Given the description of an element on the screen output the (x, y) to click on. 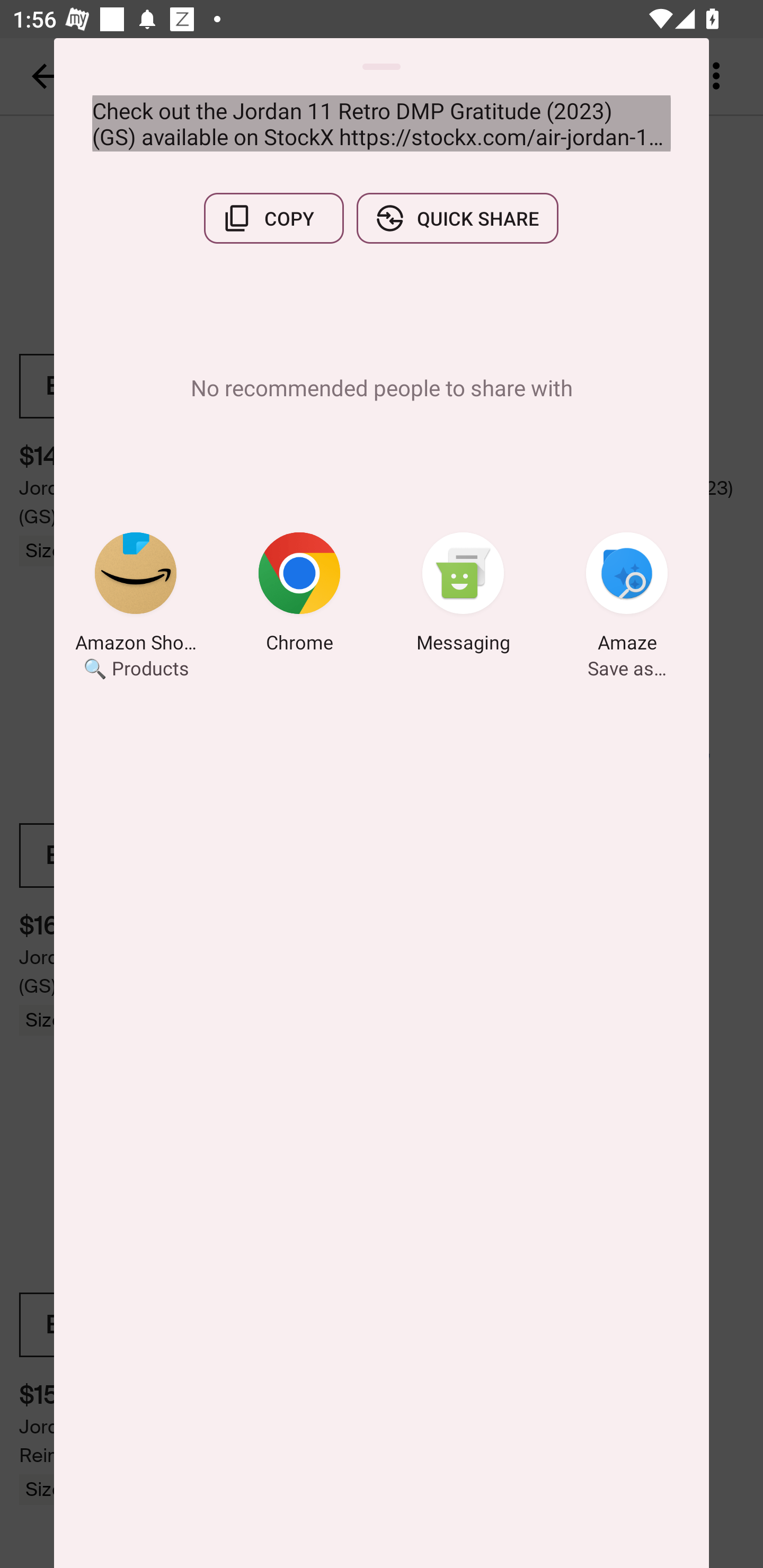
COPY (273, 218)
QUICK SHARE (457, 218)
Amazon Shopping 🔍 Products (135, 594)
Chrome (299, 594)
Messaging (463, 594)
Amaze Save as… (626, 594)
